Given the description of an element on the screen output the (x, y) to click on. 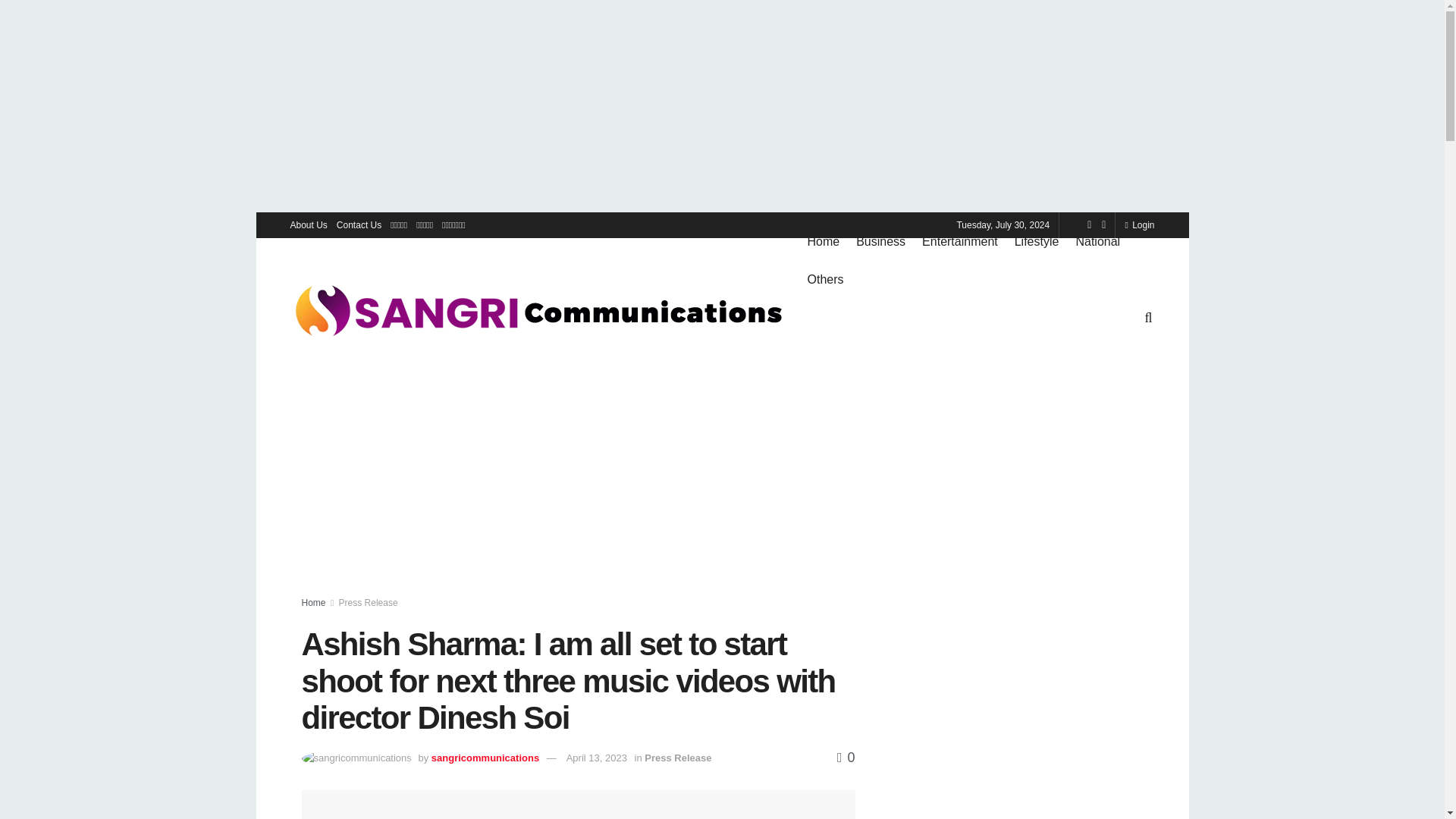
Others (824, 279)
Press Release (368, 602)
Entertainment (959, 241)
sangricommunications (484, 757)
Home (313, 602)
National (1097, 241)
About Us (307, 225)
Login (1139, 225)
Lifestyle (1036, 241)
Contact Us (358, 225)
Home (823, 241)
Business (880, 241)
